Given the description of an element on the screen output the (x, y) to click on. 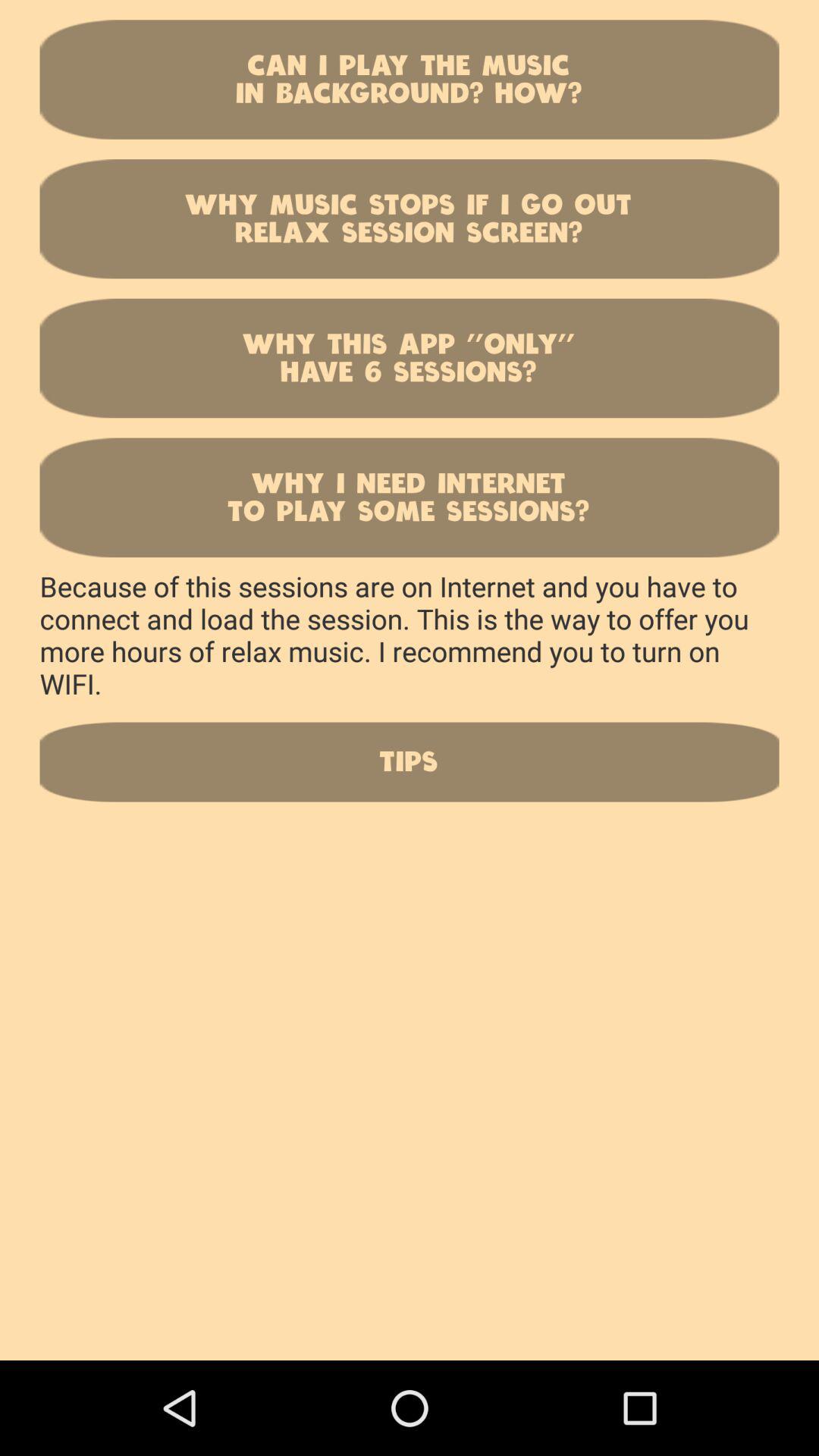
click icon below can i play button (409, 218)
